Given the description of an element on the screen output the (x, y) to click on. 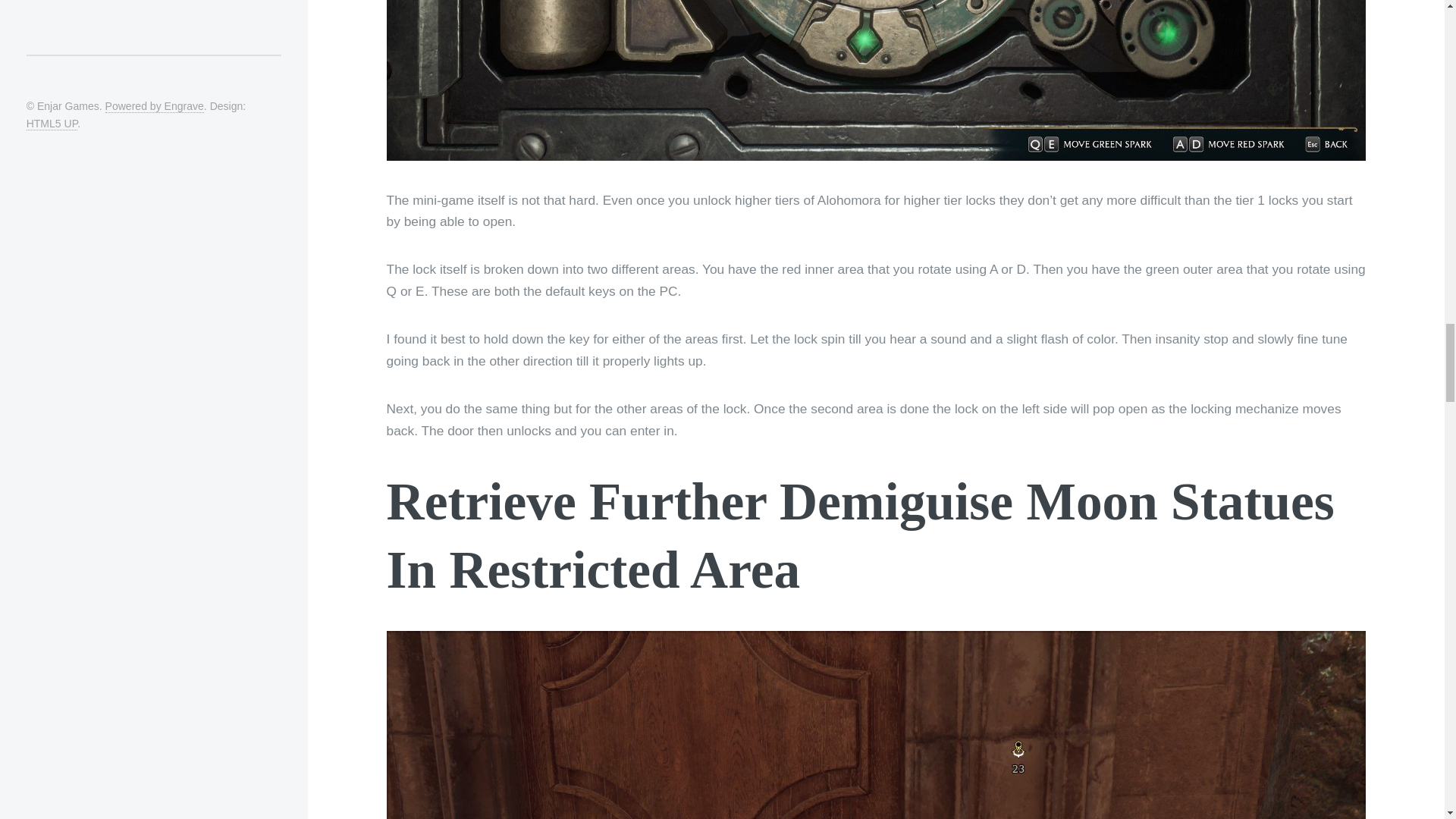
HTML5 UP (136, 132)
Powered by Engrave (153, 106)
